Given the description of an element on the screen output the (x, y) to click on. 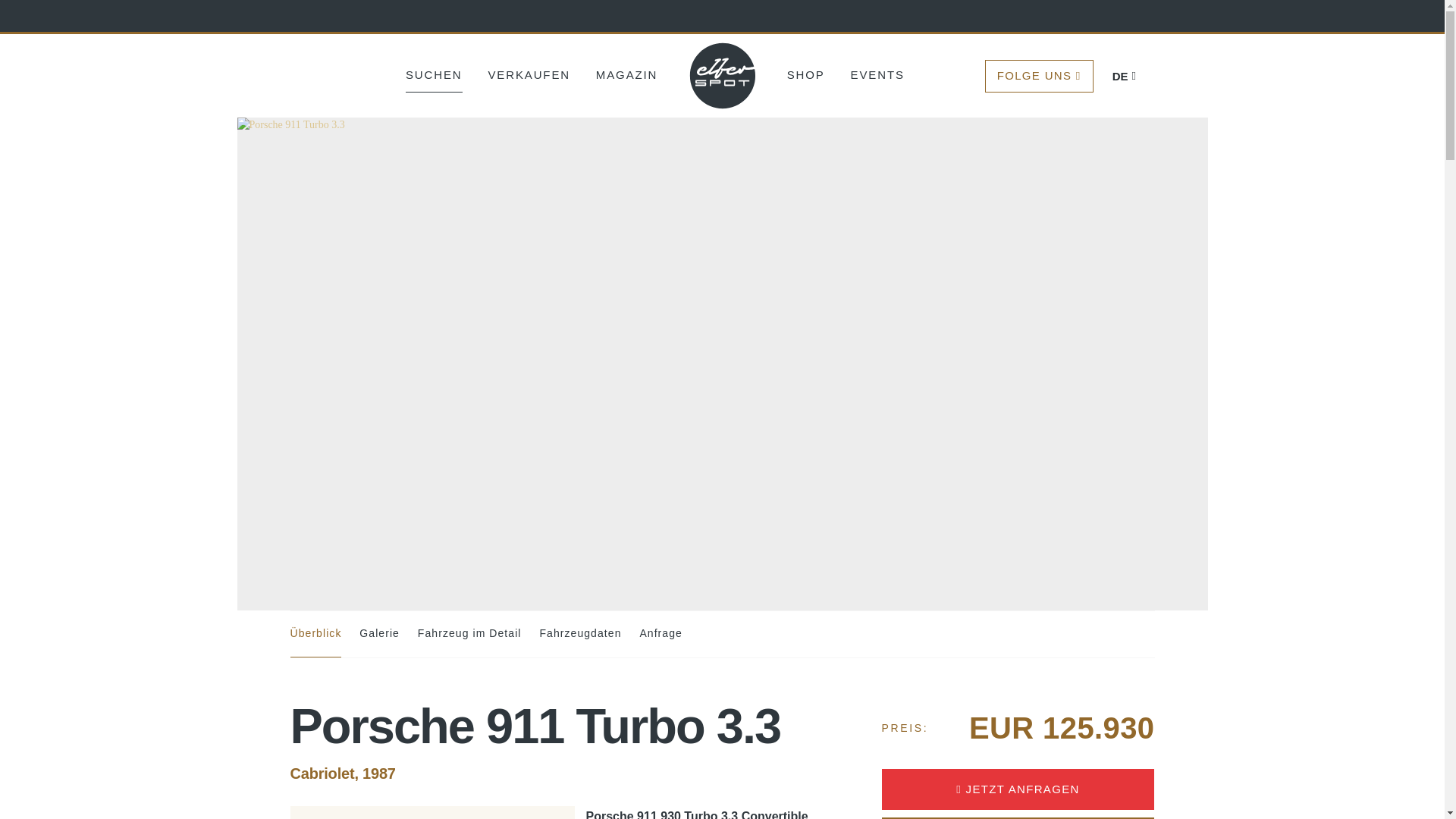
Events (877, 73)
SUCHEN (434, 73)
Verkaufen (528, 73)
VERKAUFEN (528, 73)
Suchen (434, 73)
MAGAZIN (626, 73)
Elferspot (722, 75)
Shop (806, 73)
Magazin (626, 73)
